Given the description of an element on the screen output the (x, y) to click on. 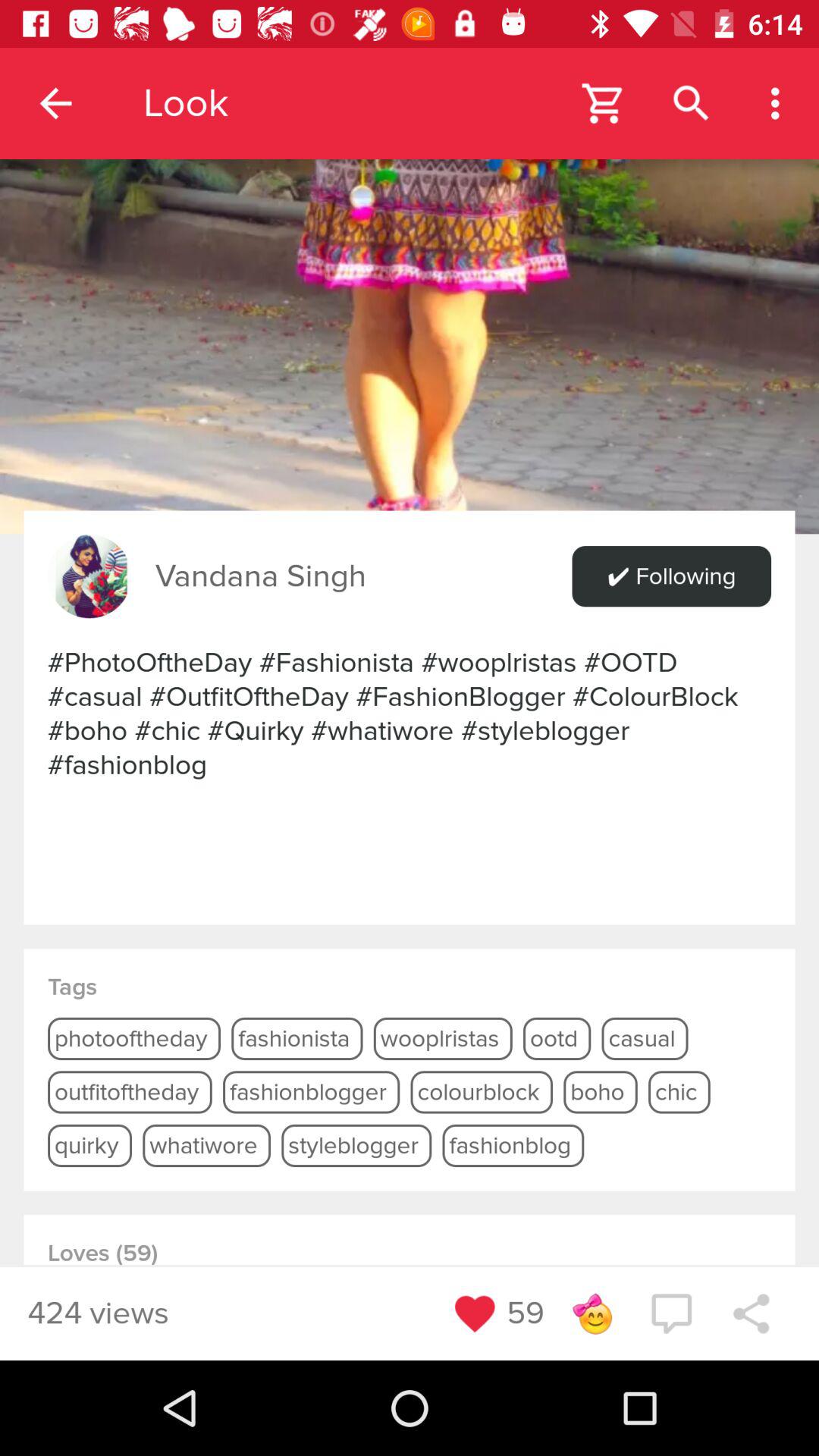
drop a comment (671, 1313)
